Given the description of an element on the screen output the (x, y) to click on. 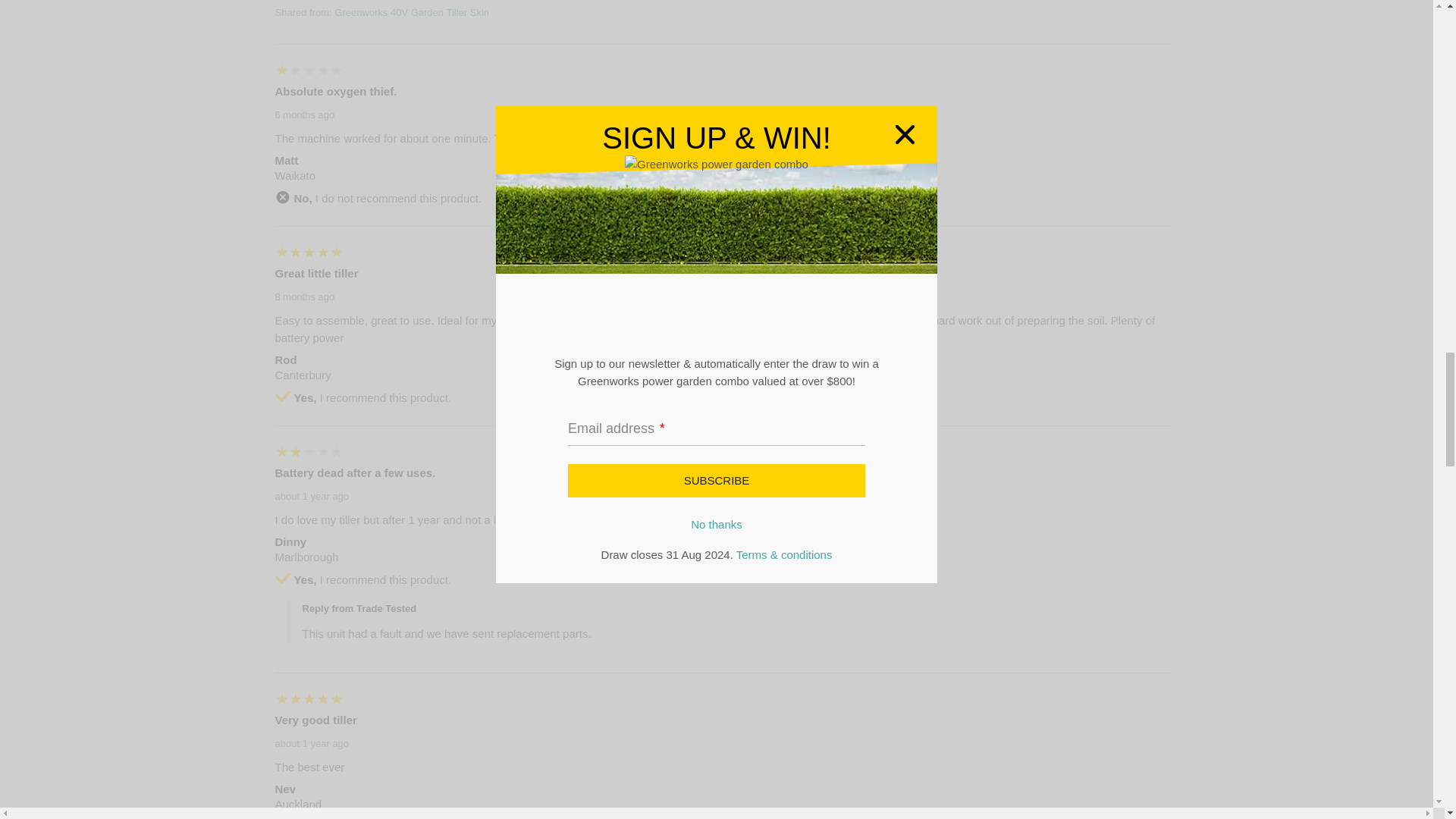
Greenworks 40V Garden Tiller Skin (411, 12)
